Given the description of an element on the screen output the (x, y) to click on. 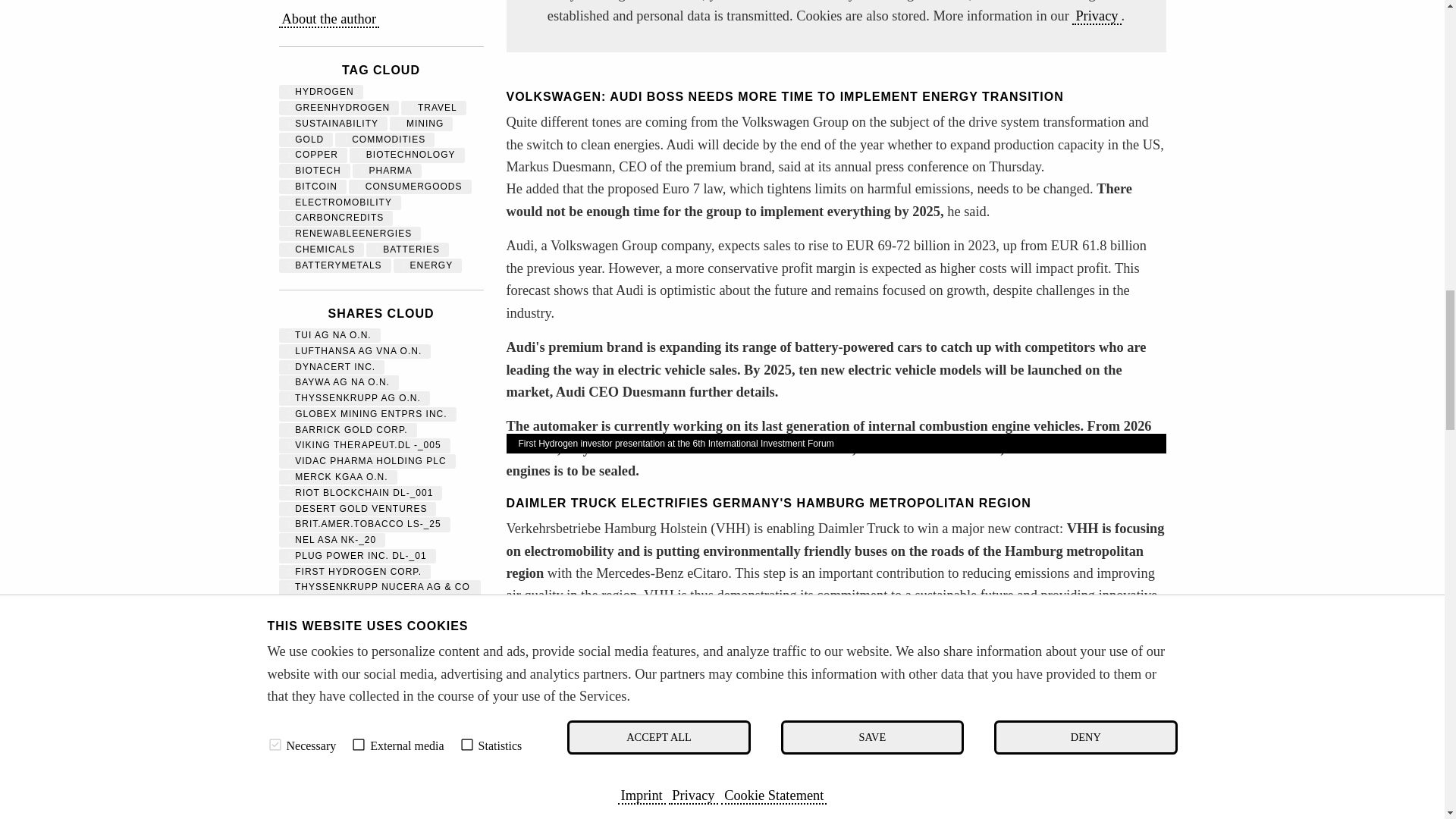
COPPER (312, 154)
youtube (836, 25)
About the author (329, 19)
Juliane Zielonka (329, 19)
MINING (421, 122)
BIOTECH (314, 170)
SUSTAINABILITY (333, 122)
HYDROGEN (320, 91)
GREENHYDROGEN (339, 107)
BIOTECHNOLOGY (406, 154)
TRAVEL (433, 107)
GOLD (306, 139)
COMMODITIES (384, 139)
PHARMA (386, 170)
BITCOIN (312, 185)
